Given the description of an element on the screen output the (x, y) to click on. 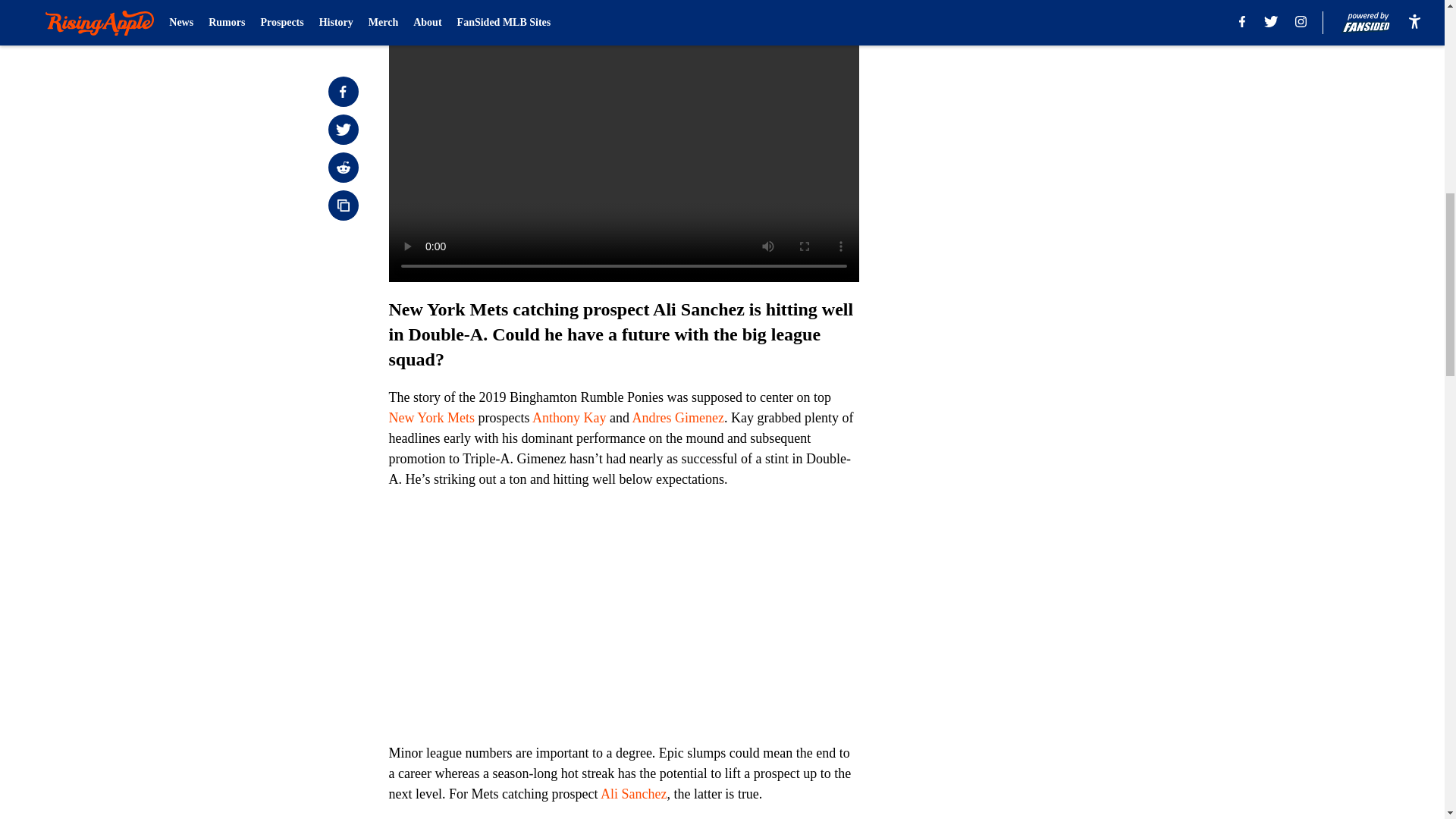
3rd party ad content (1047, 113)
New York Mets (431, 417)
Anthony Kay (569, 417)
3rd party ad content (1047, 332)
Andres Gimenez (677, 417)
Ali Sanchez (632, 793)
